Given the description of an element on the screen output the (x, y) to click on. 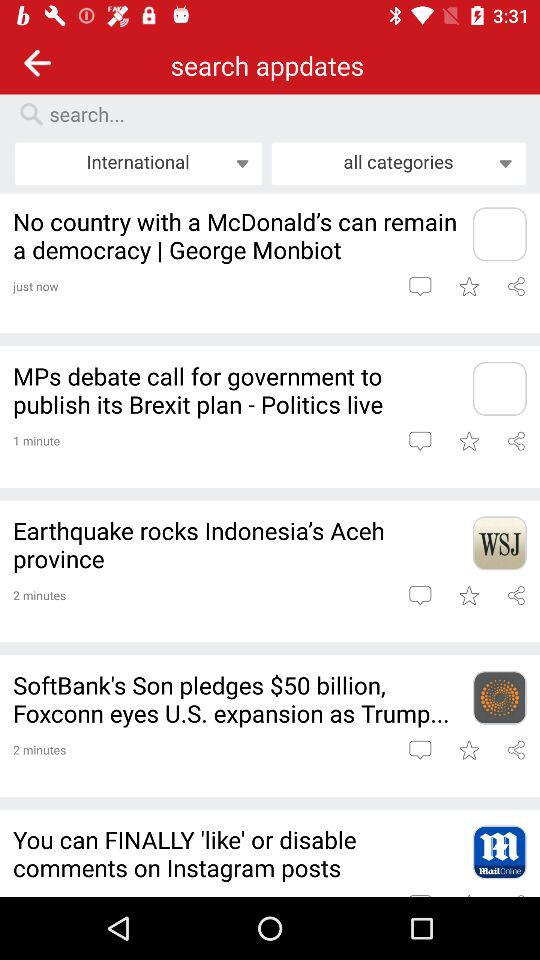
bookmark (468, 286)
